Given the description of an element on the screen output the (x, y) to click on. 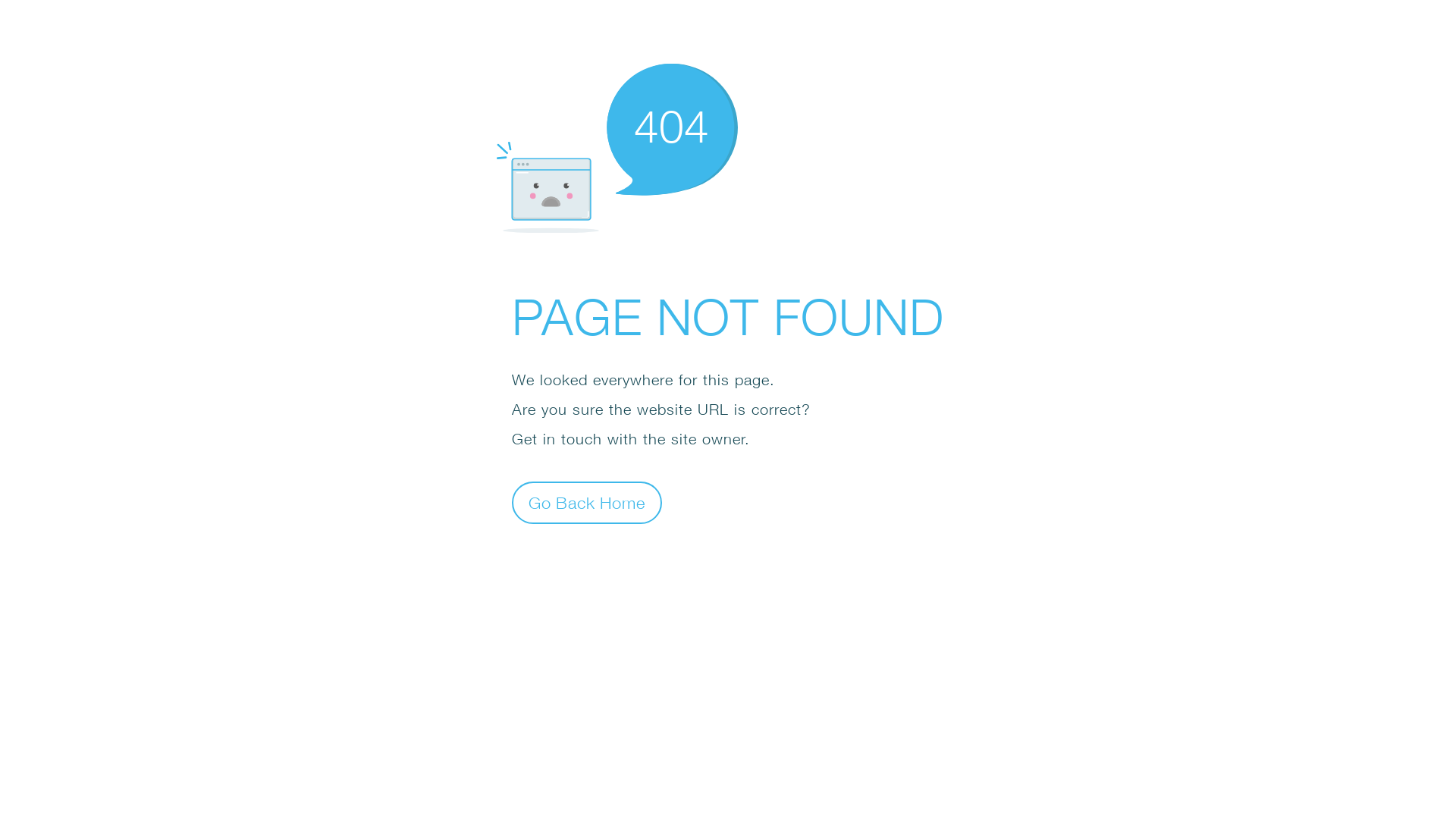
Go Back Home Element type: text (586, 502)
